Given the description of an element on the screen output the (x, y) to click on. 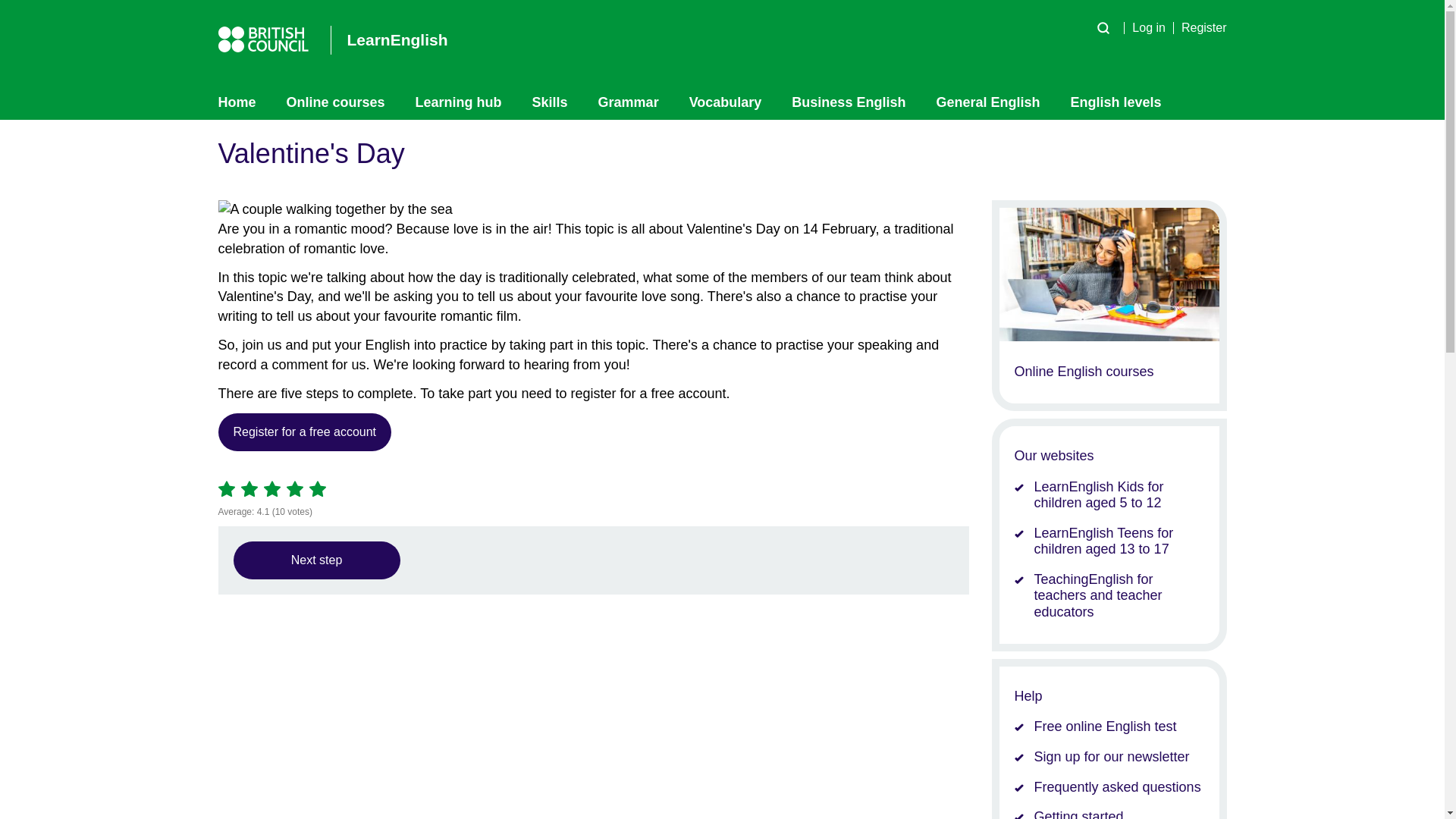
Register (1196, 27)
Grammar (628, 102)
Skills (549, 102)
LearnEnglish (389, 39)
Business English (848, 102)
Home (244, 102)
Log in (1141, 27)
General English (987, 102)
Search (1103, 27)
Learning hub (458, 102)
Vocabulary (725, 102)
Online courses (335, 102)
